Given the description of an element on the screen output the (x, y) to click on. 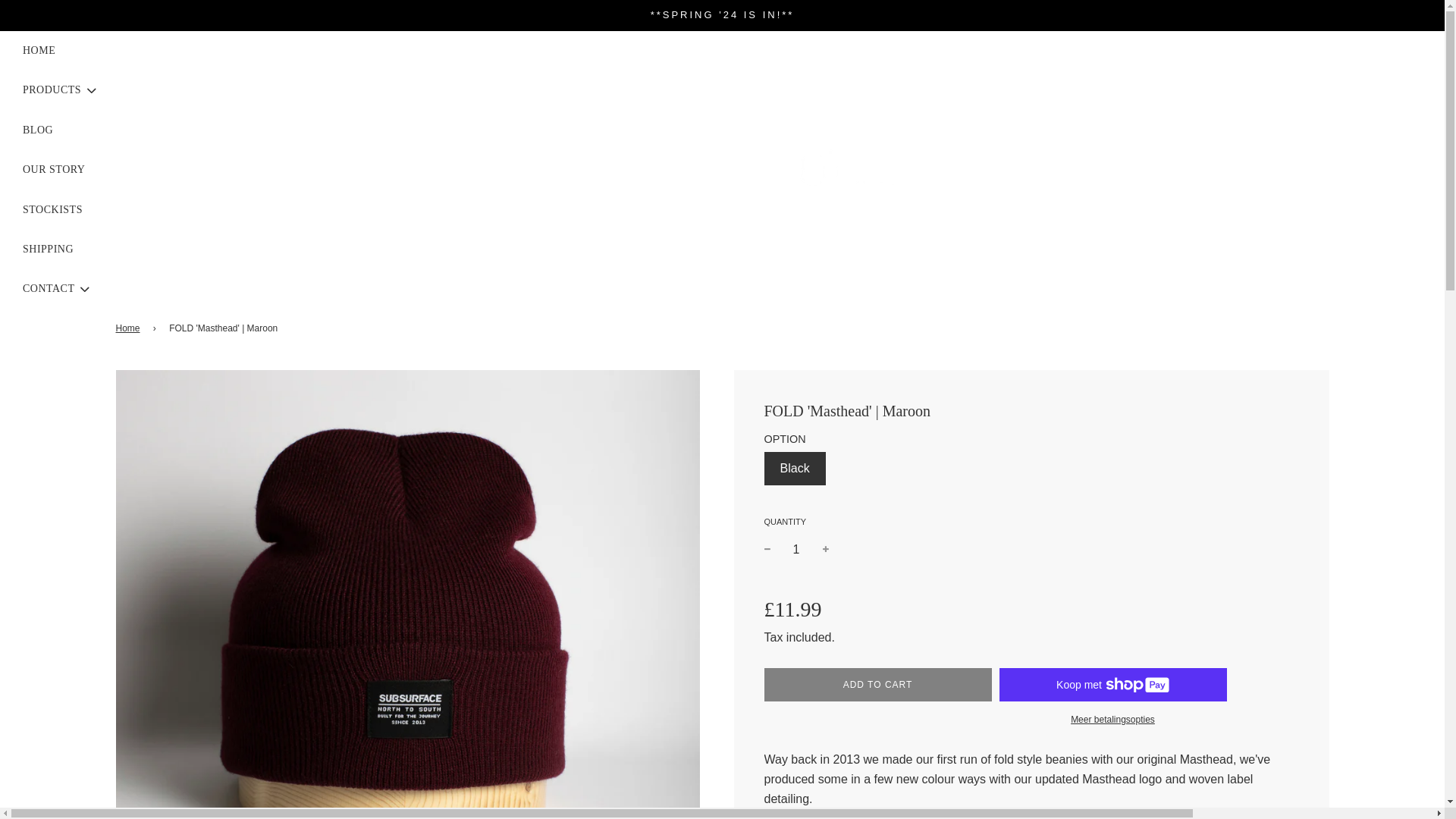
1 (796, 549)
Back to the frontpage (129, 328)
